Given the description of an element on the screen output the (x, y) to click on. 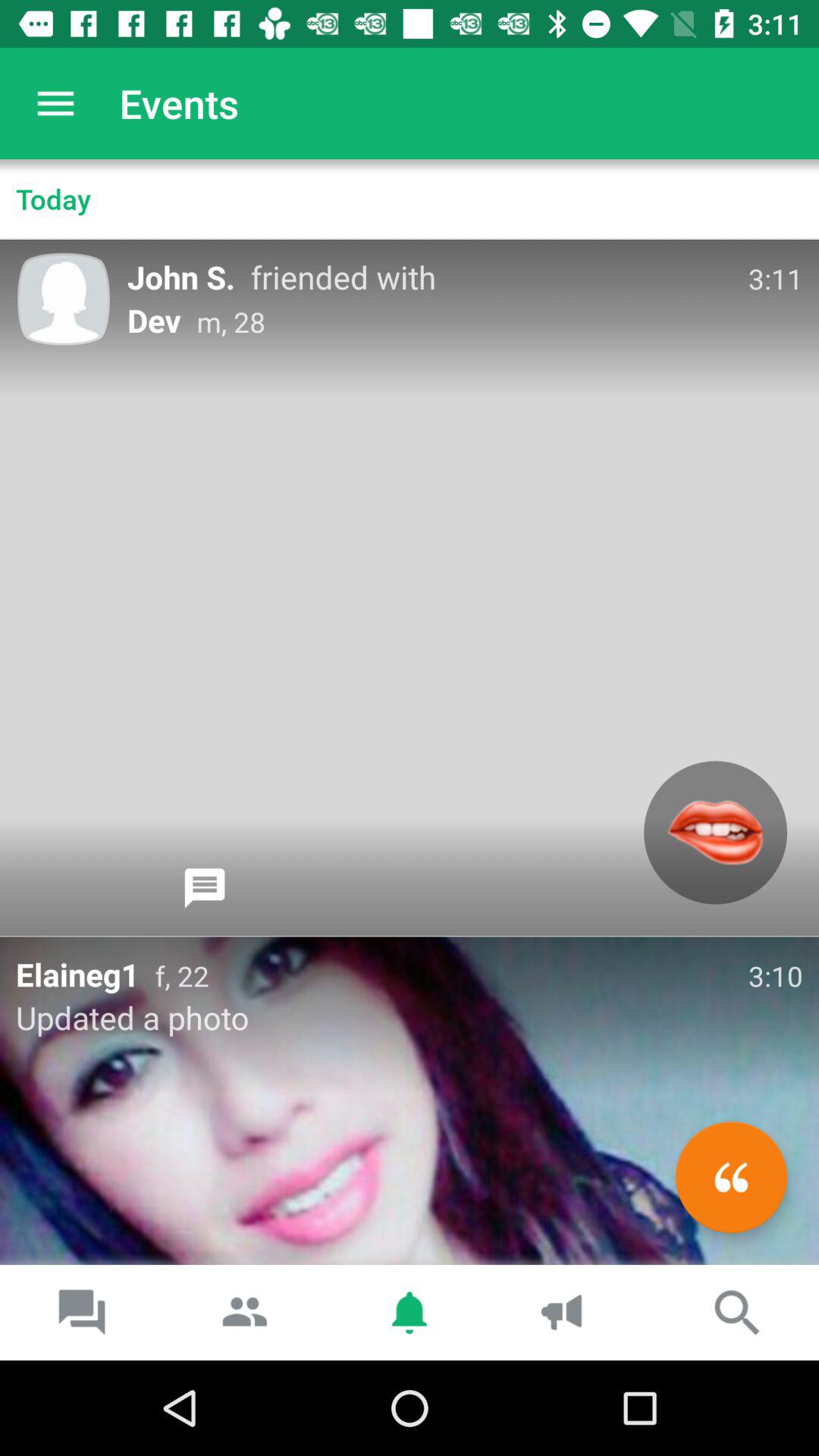
launch icon on the left (204, 888)
